Given the description of an element on the screen output the (x, y) to click on. 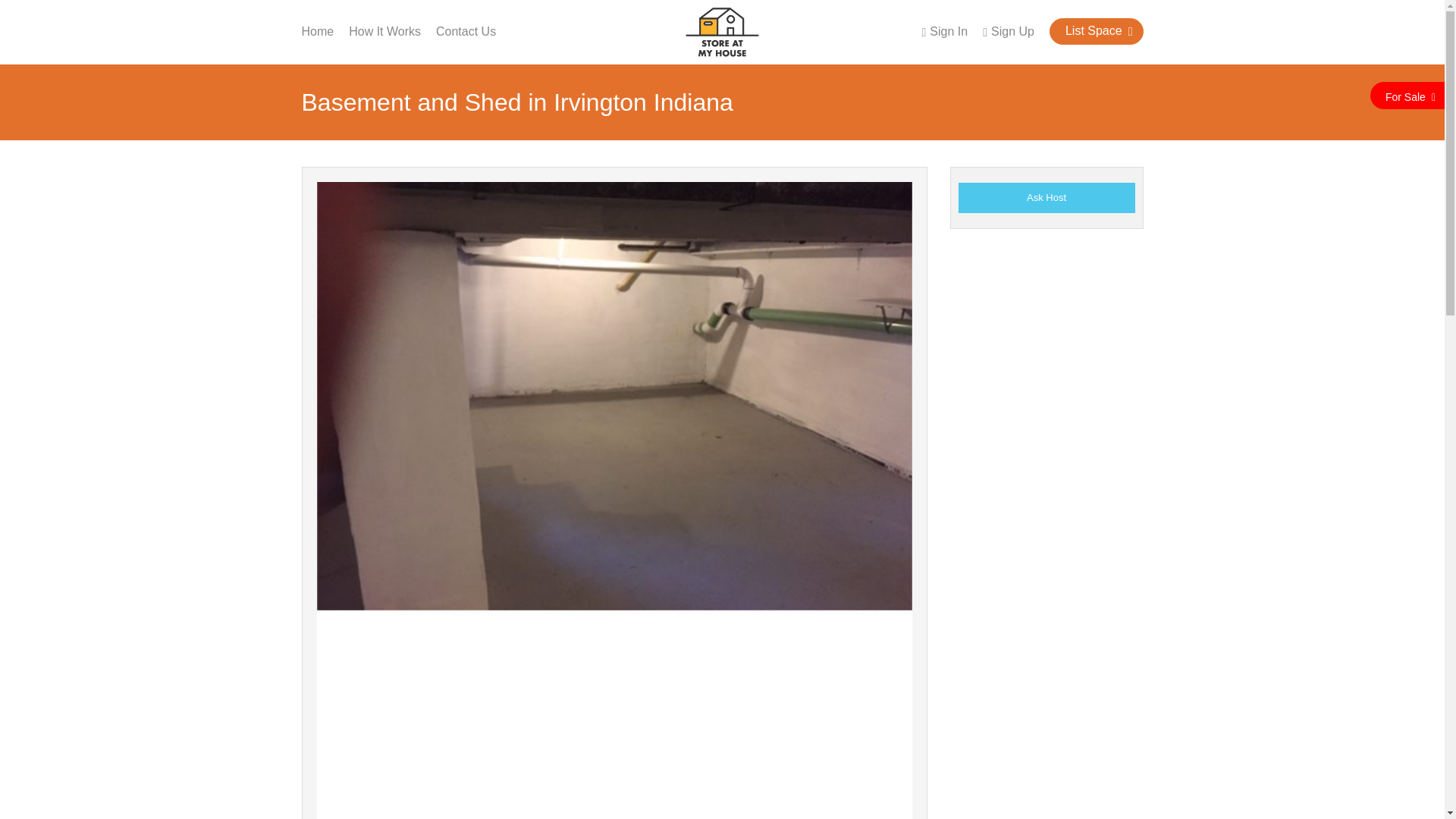
Ask Host (1046, 197)
Home (317, 31)
How It Works (384, 31)
Contact Us (465, 31)
Store At My House (721, 30)
Sign Up (1007, 31)
Sign In (944, 31)
List Space (1095, 31)
